Given the description of an element on the screen output the (x, y) to click on. 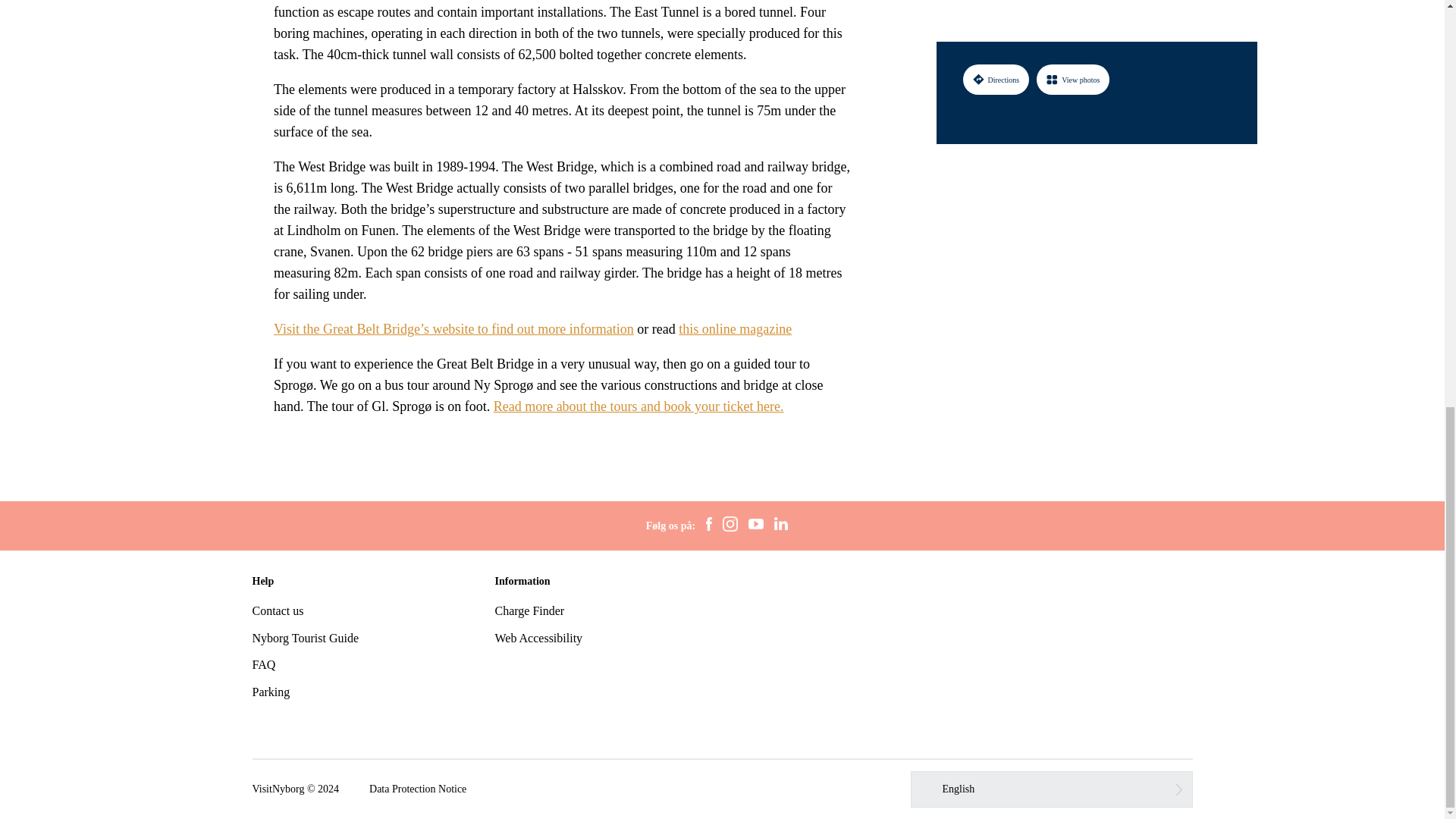
Parking (270, 691)
Nyborg Tourist Guide (304, 637)
Data Protection Notice (417, 789)
Contact us (276, 610)
Web Accessibility (538, 637)
facebook (708, 525)
Charge Finder (529, 610)
this online magazine (735, 328)
Web Accessibility (538, 637)
Parking (270, 691)
